Given the description of an element on the screen output the (x, y) to click on. 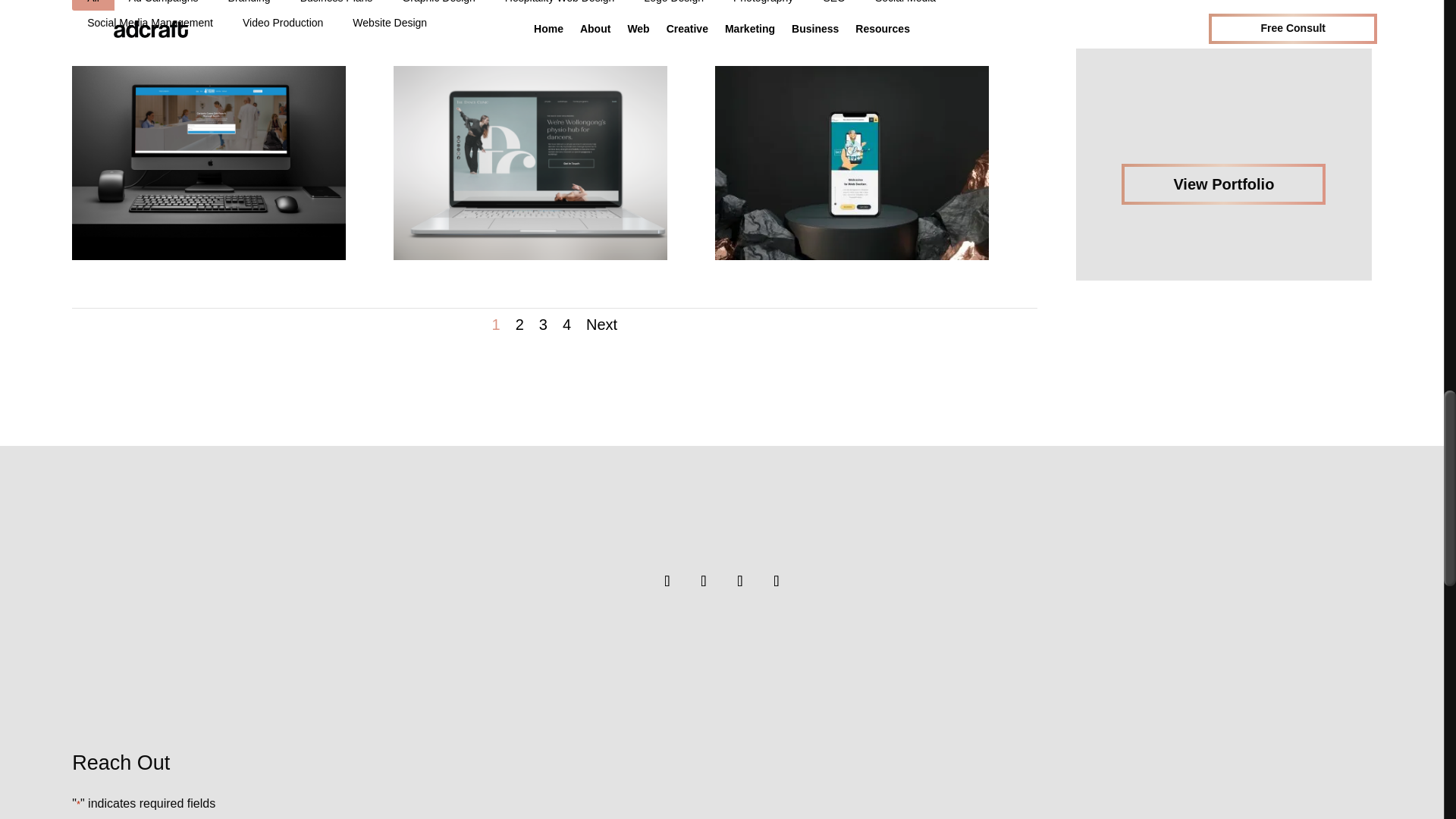
Follow on LinkedIn (740, 580)
Follow on Youtube (776, 580)
Follow on Facebook (667, 580)
Follow on Instagram (703, 580)
